Given the description of an element on the screen output the (x, y) to click on. 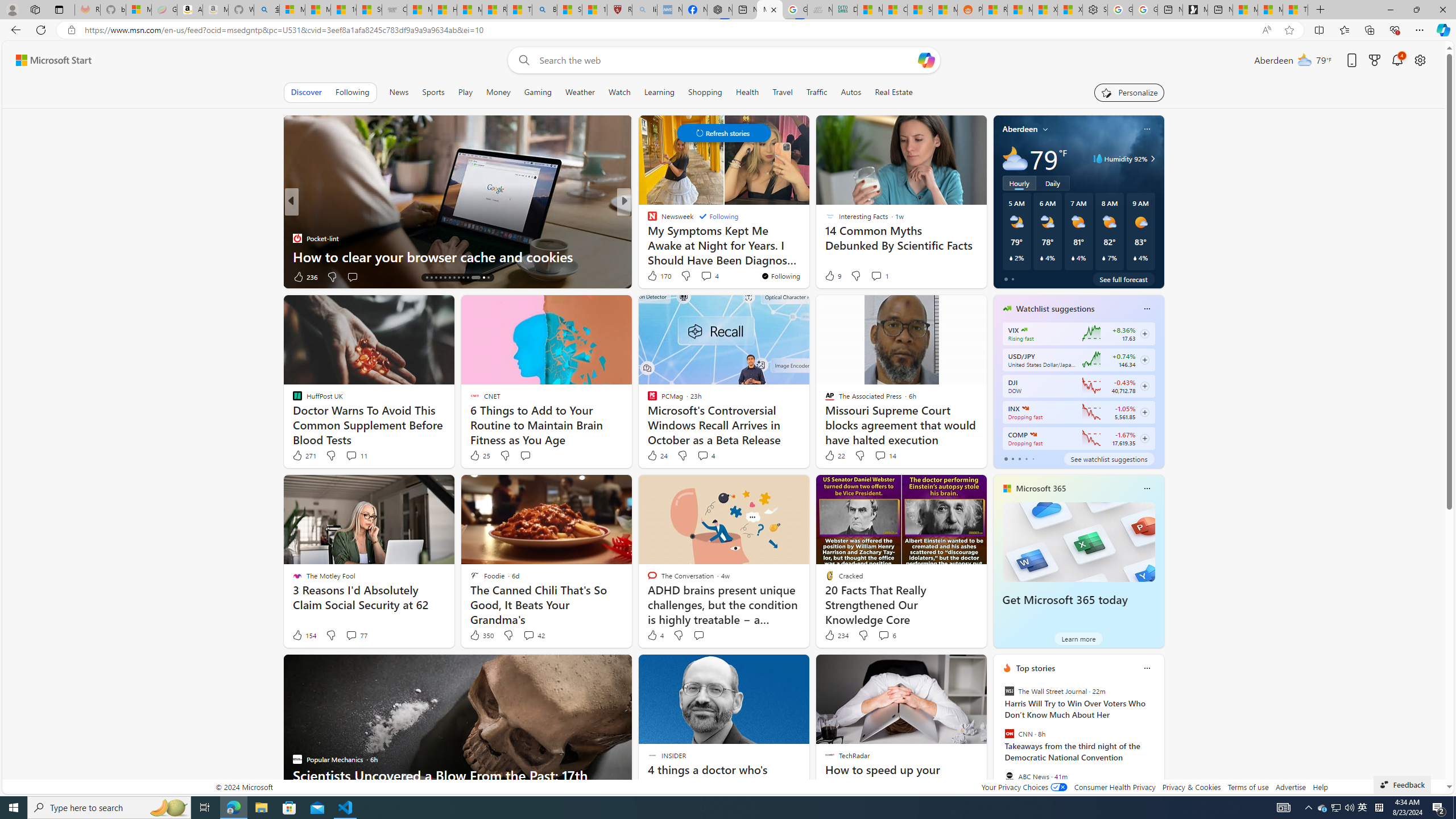
Get Microsoft 365 today (1077, 541)
Top stories (1035, 668)
Learning (659, 92)
AutomationID: tab-26 (488, 277)
Consumer Health Privacy (1115, 786)
AutomationID: tab-20 (454, 277)
AutomationID: tab-15 (431, 277)
View comments 42 Comment (533, 634)
Travel (782, 92)
Stocks - MSN (919, 9)
